Given the description of an element on the screen output the (x, y) to click on. 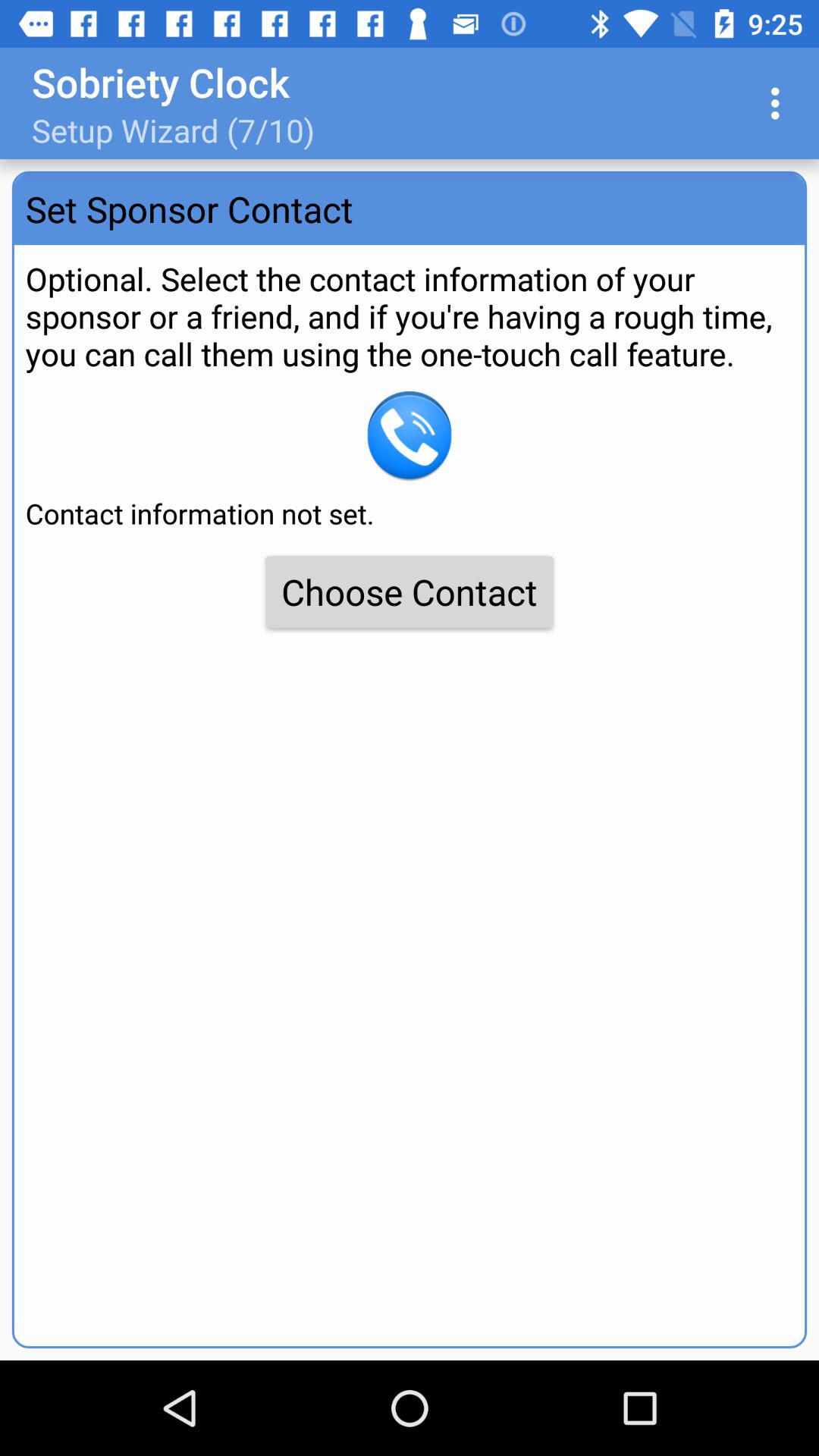
swipe until choose contact item (409, 591)
